Given the description of an element on the screen output the (x, y) to click on. 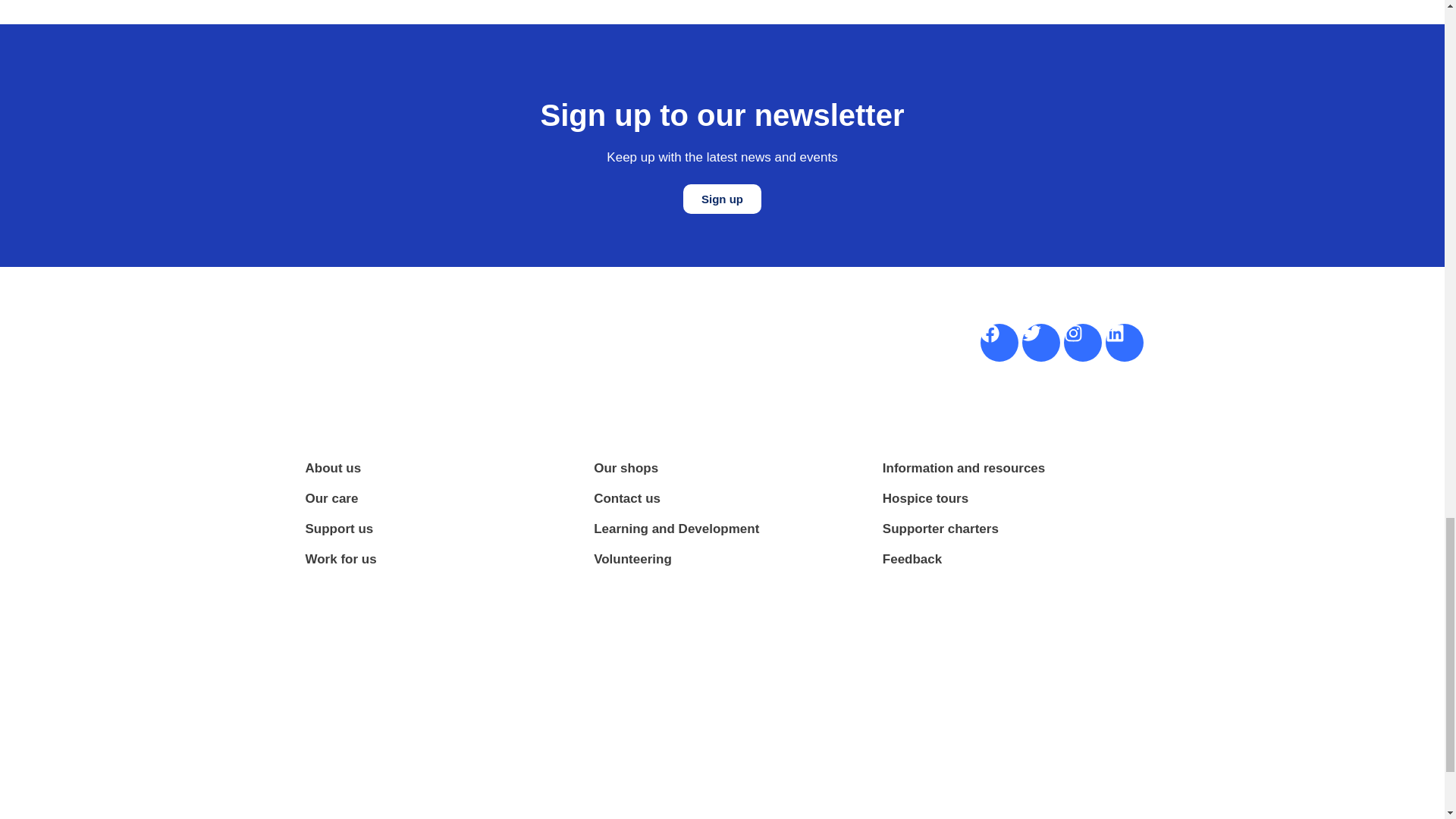
Disability Confident 1 (1097, 805)
